Given the description of an element on the screen output the (x, y) to click on. 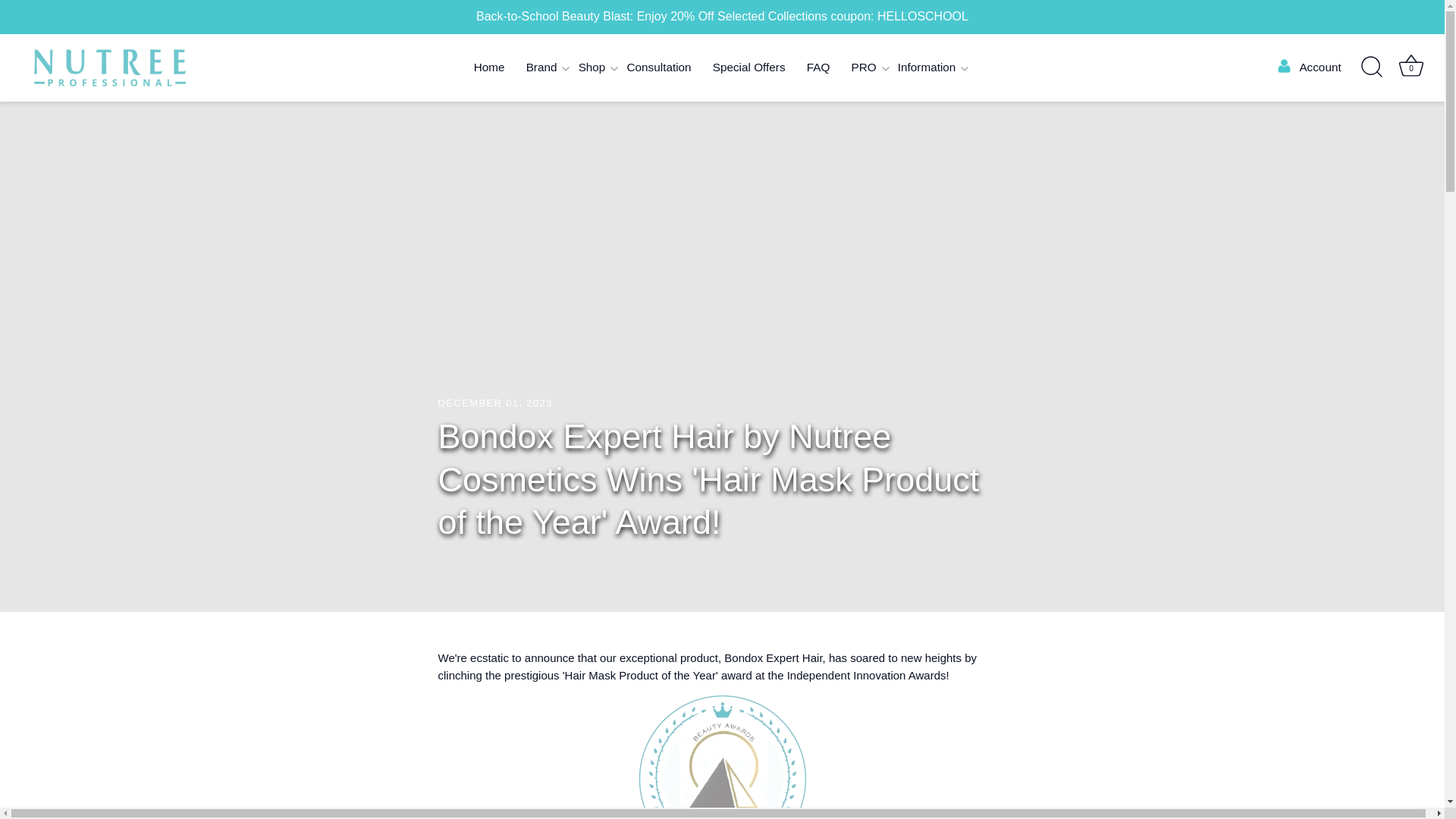
PRO (863, 68)
Brand (541, 68)
Basket (1410, 65)
Information (926, 68)
Home (488, 68)
Consultation (658, 68)
Shop (591, 68)
Special Offers (748, 68)
FAQ (818, 68)
